Given the description of an element on the screen output the (x, y) to click on. 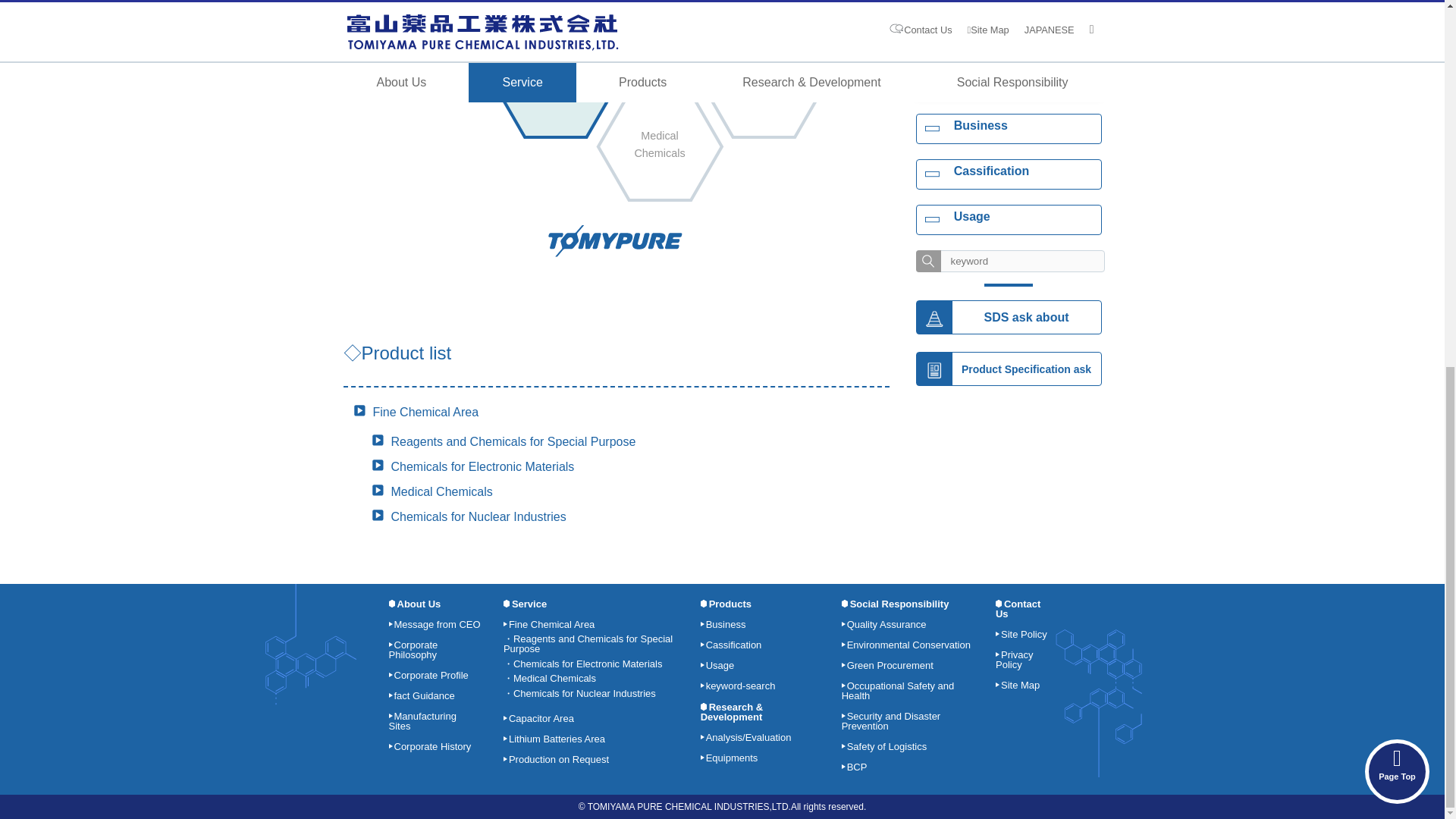
transmission (927, 260)
